Given the description of an element on the screen output the (x, y) to click on. 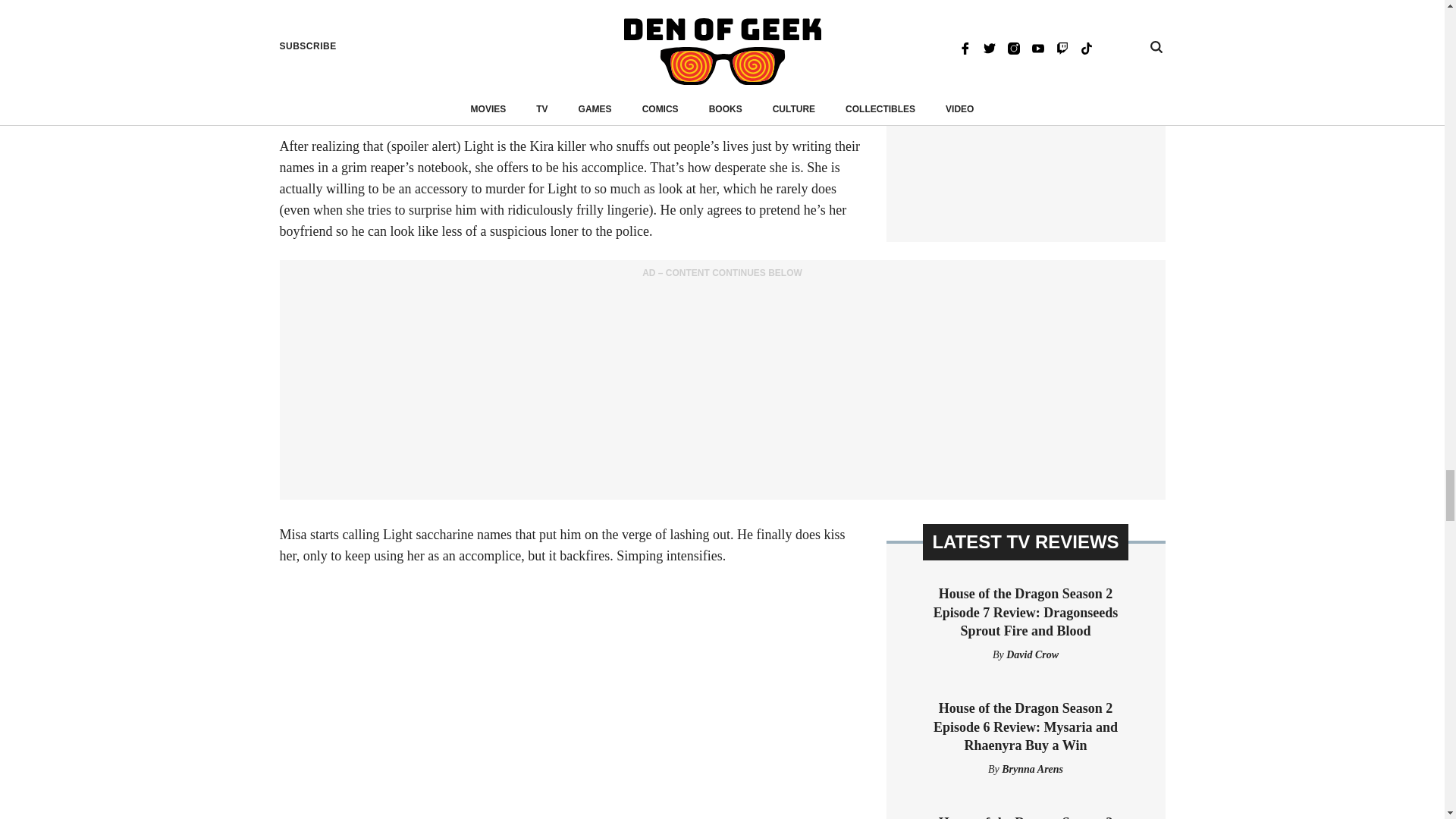
Brynna Arens (1031, 768)
David Crow (1032, 654)
